Given the description of an element on the screen output the (x, y) to click on. 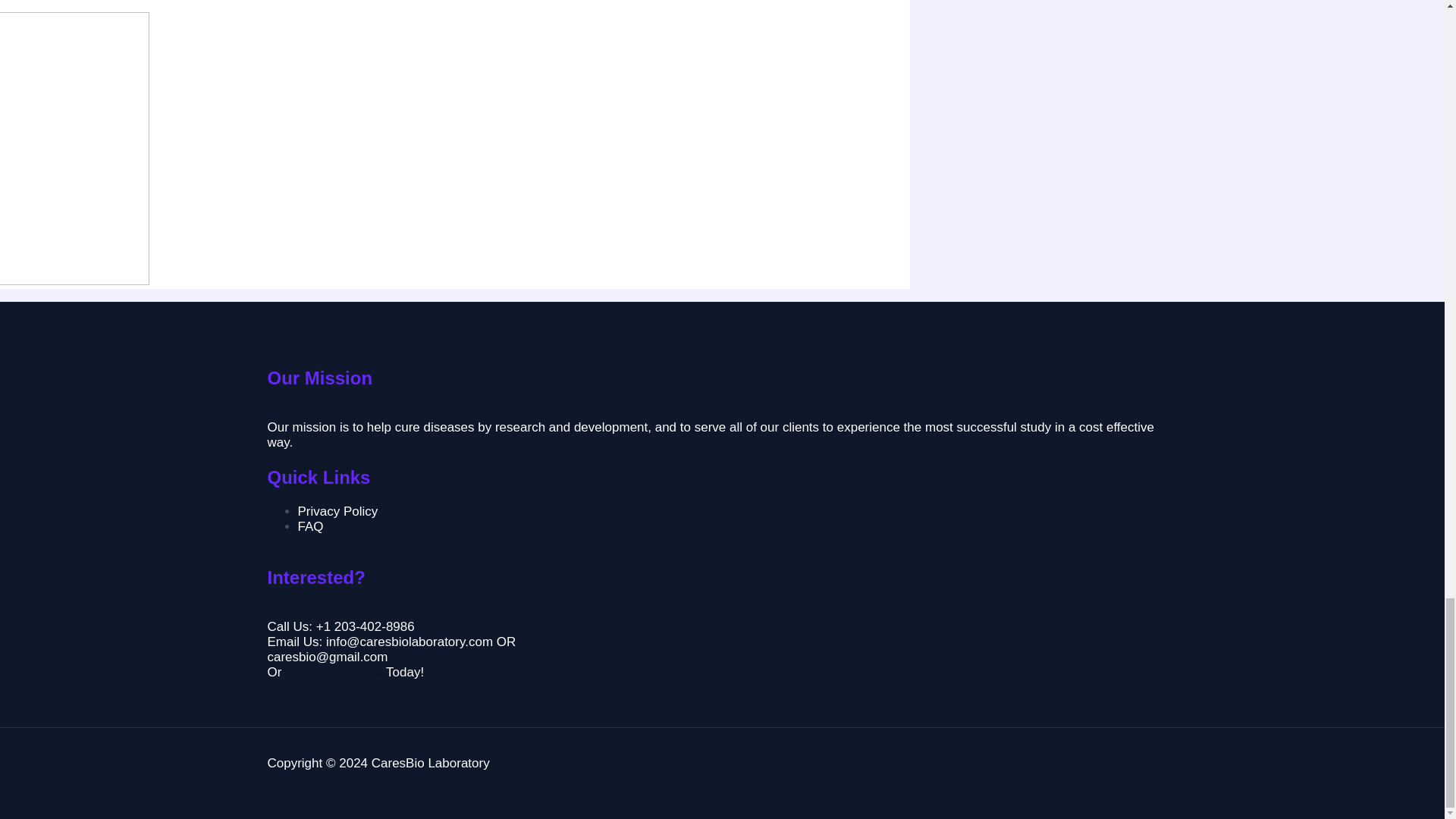
FAQ (310, 526)
Privacy Policy (337, 511)
Request A Quote (333, 672)
